Given the description of an element on the screen output the (x, y) to click on. 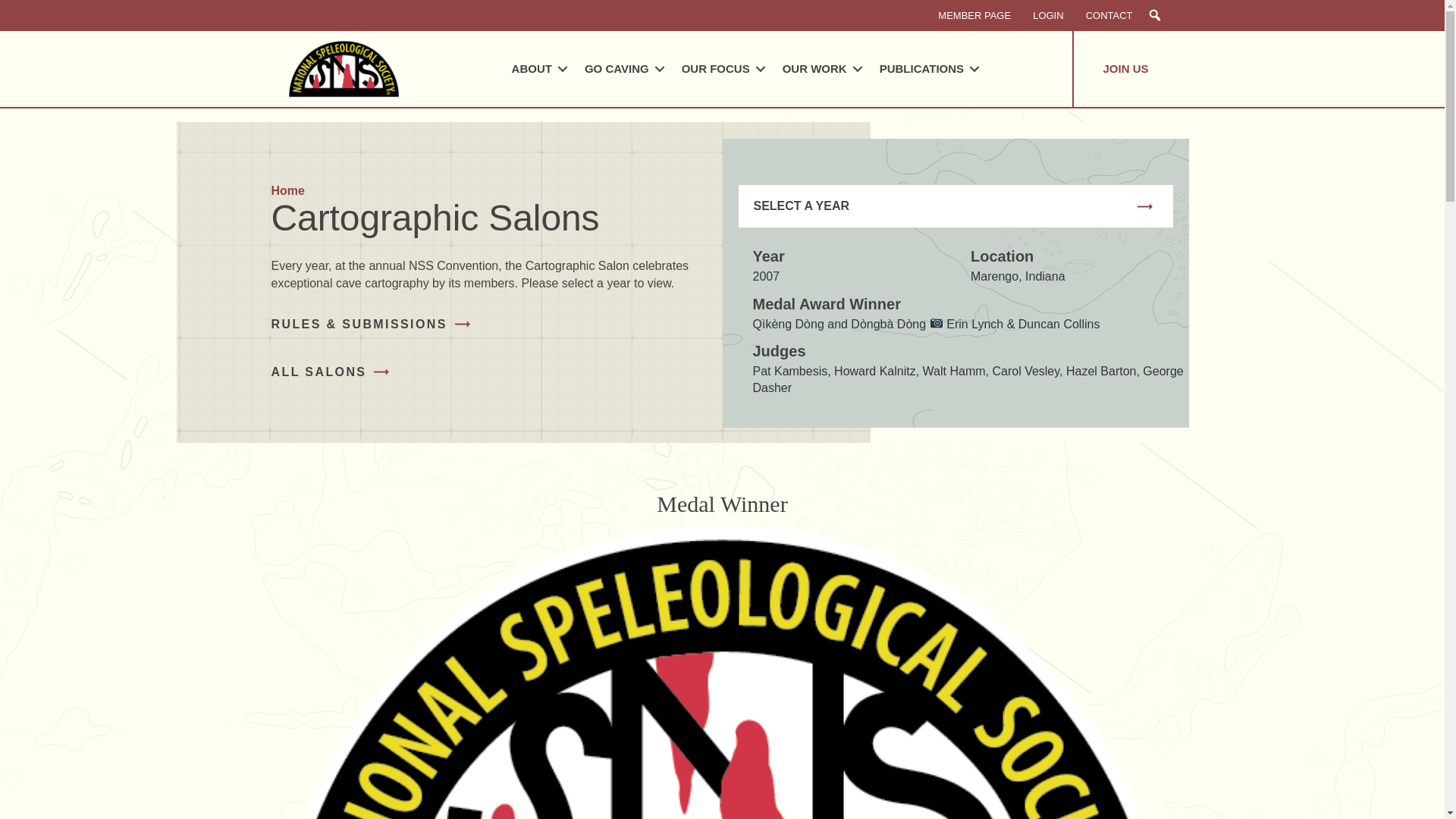
OUR WORK (819, 69)
Home (287, 190)
ALL SALONS (330, 371)
PUBLICATIONS (927, 69)
GO CAVING (621, 69)
ABOUT (536, 69)
SELECT A YEAR (801, 206)
LOGIN (1048, 15)
CONTACT (1108, 15)
OUR FOCUS (721, 69)
National Speleological Society Logo (342, 68)
MEMBER PAGE (974, 15)
